Given the description of an element on the screen output the (x, y) to click on. 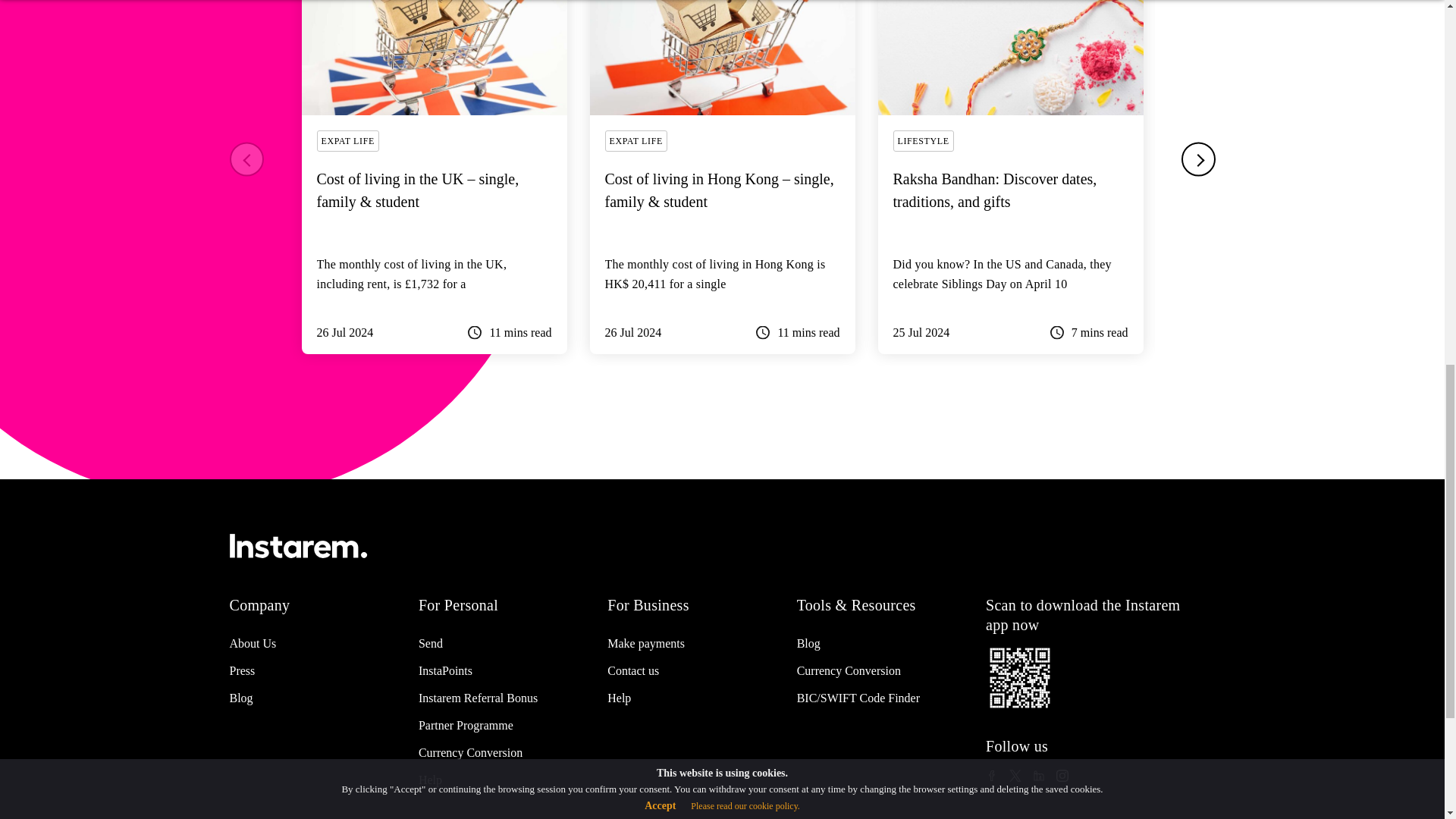
Instagram (1062, 774)
Facebook (991, 774)
LinkedIn (1038, 774)
Twitter (1015, 774)
